Given the description of an element on the screen output the (x, y) to click on. 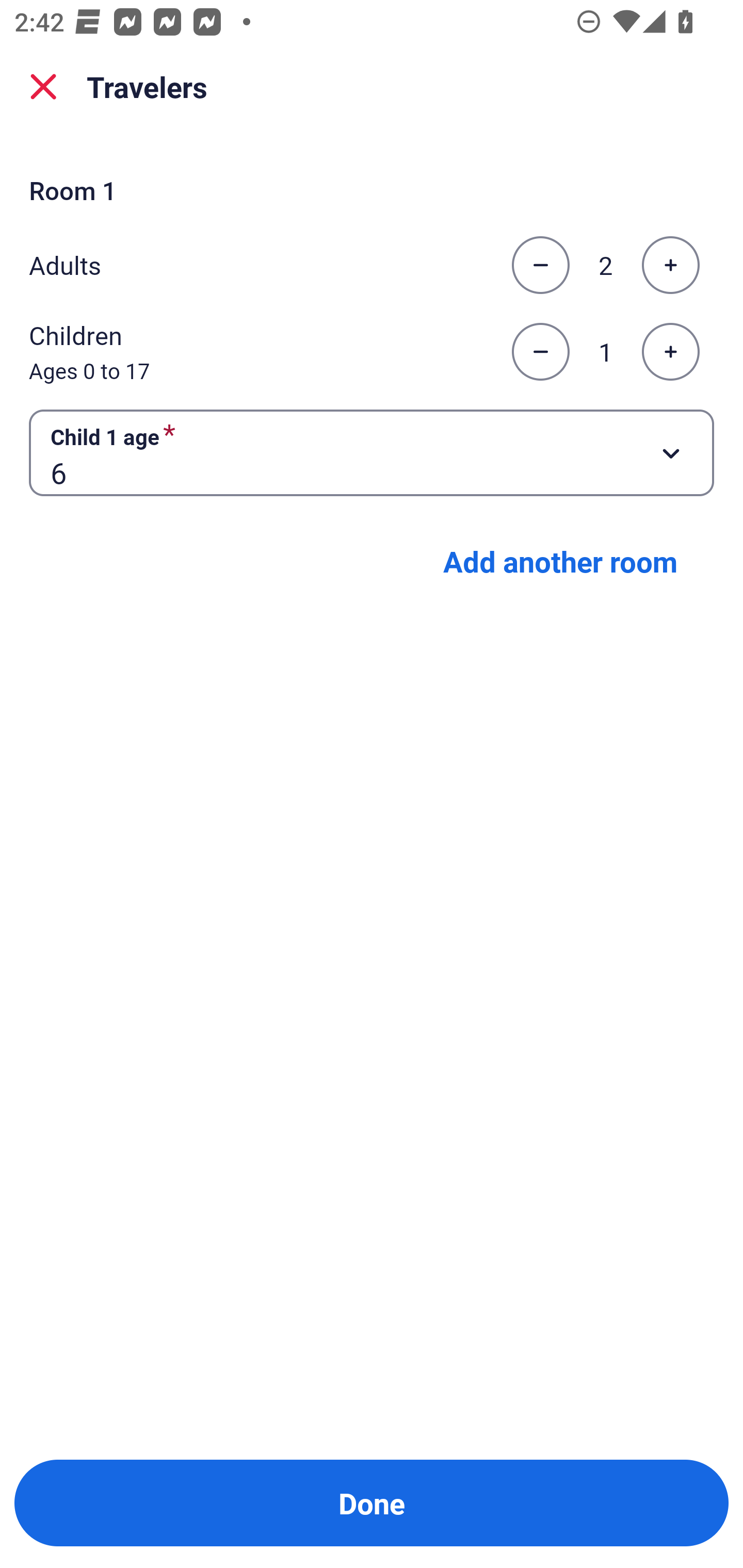
close (43, 86)
Decrease the number of adults (540, 264)
Increase the number of adults (670, 264)
Decrease the number of children (540, 351)
Increase the number of children (670, 351)
Child 1 age required Button 6 (371, 452)
Add another room (560, 561)
Done (371, 1502)
